Given the description of an element on the screen output the (x, y) to click on. 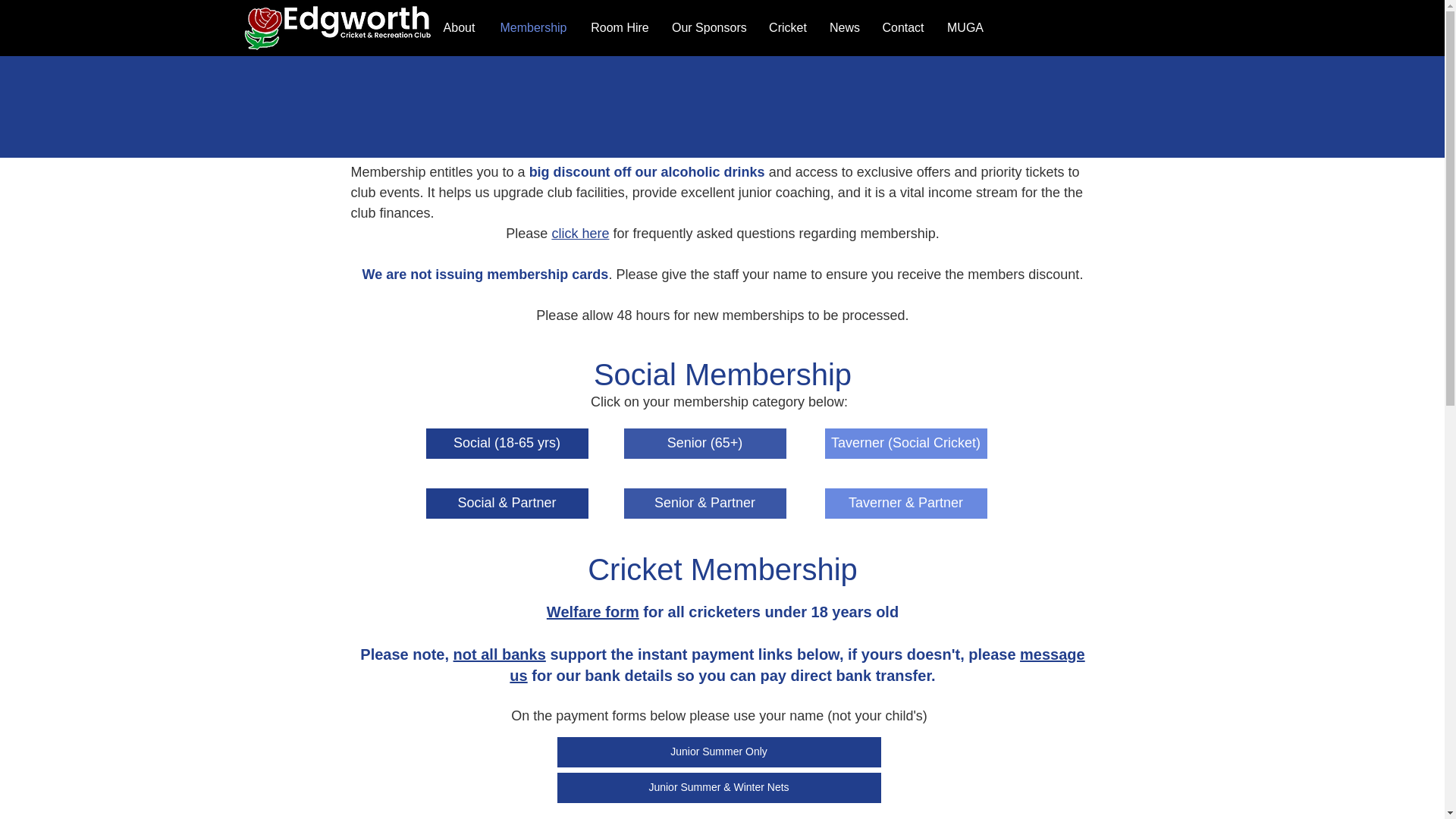
Junior Summer Only (718, 752)
Home (402, 27)
click here (579, 233)
Welfare form (593, 611)
Membership (533, 27)
MUGA (965, 27)
Contact (903, 27)
Room Hire (620, 27)
News (844, 27)
About (458, 27)
